Given the description of an element on the screen output the (x, y) to click on. 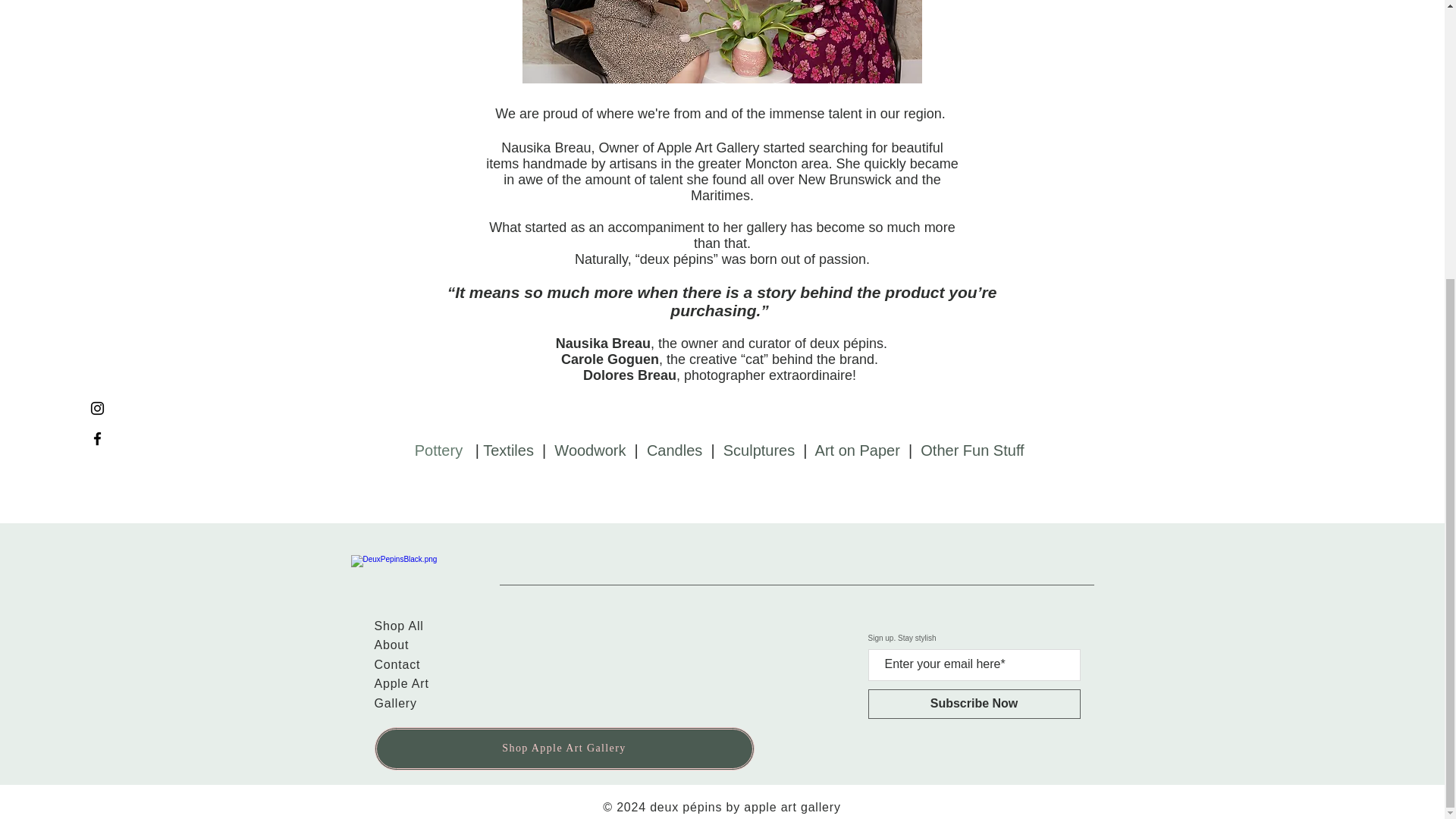
Woodwork (590, 450)
Sculptures (758, 450)
Contact (397, 664)
About (391, 644)
Shop Apple Art Gallery (564, 748)
Textiles (508, 450)
Other Fun Stuff (971, 450)
Pottery (438, 450)
Shop All (398, 625)
Subscribe Now (973, 704)
Apple Art Gallery (401, 693)
Candles (673, 450)
Art on Paper (857, 450)
